Given the description of an element on the screen output the (x, y) to click on. 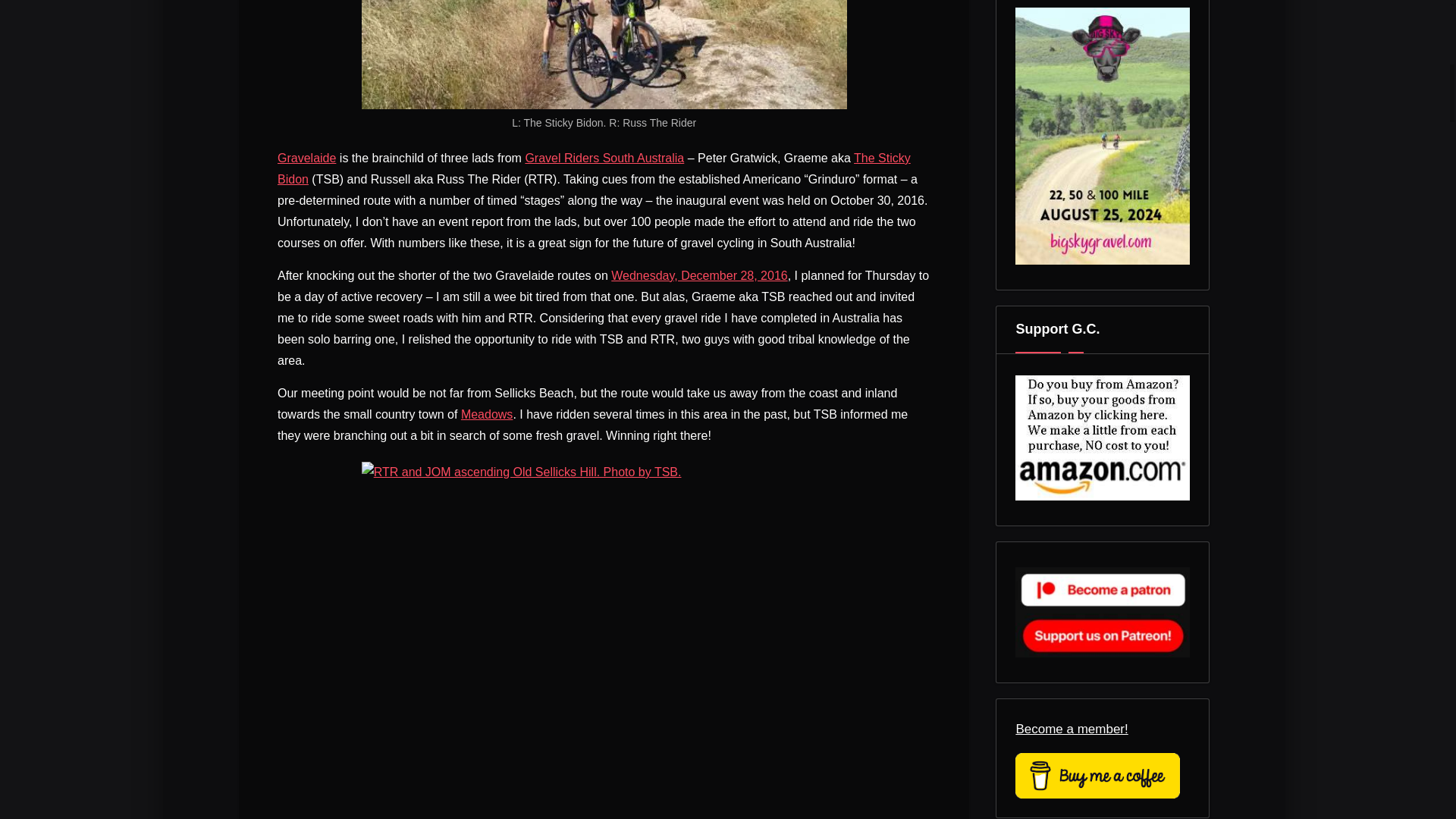
Wednesday, December 28, 2016 (699, 275)
The Sticky Bidon (594, 168)
Meadows (486, 413)
Gravelaide (307, 157)
Gravel Riders South Australia (604, 157)
